Given the description of an element on the screen output the (x, y) to click on. 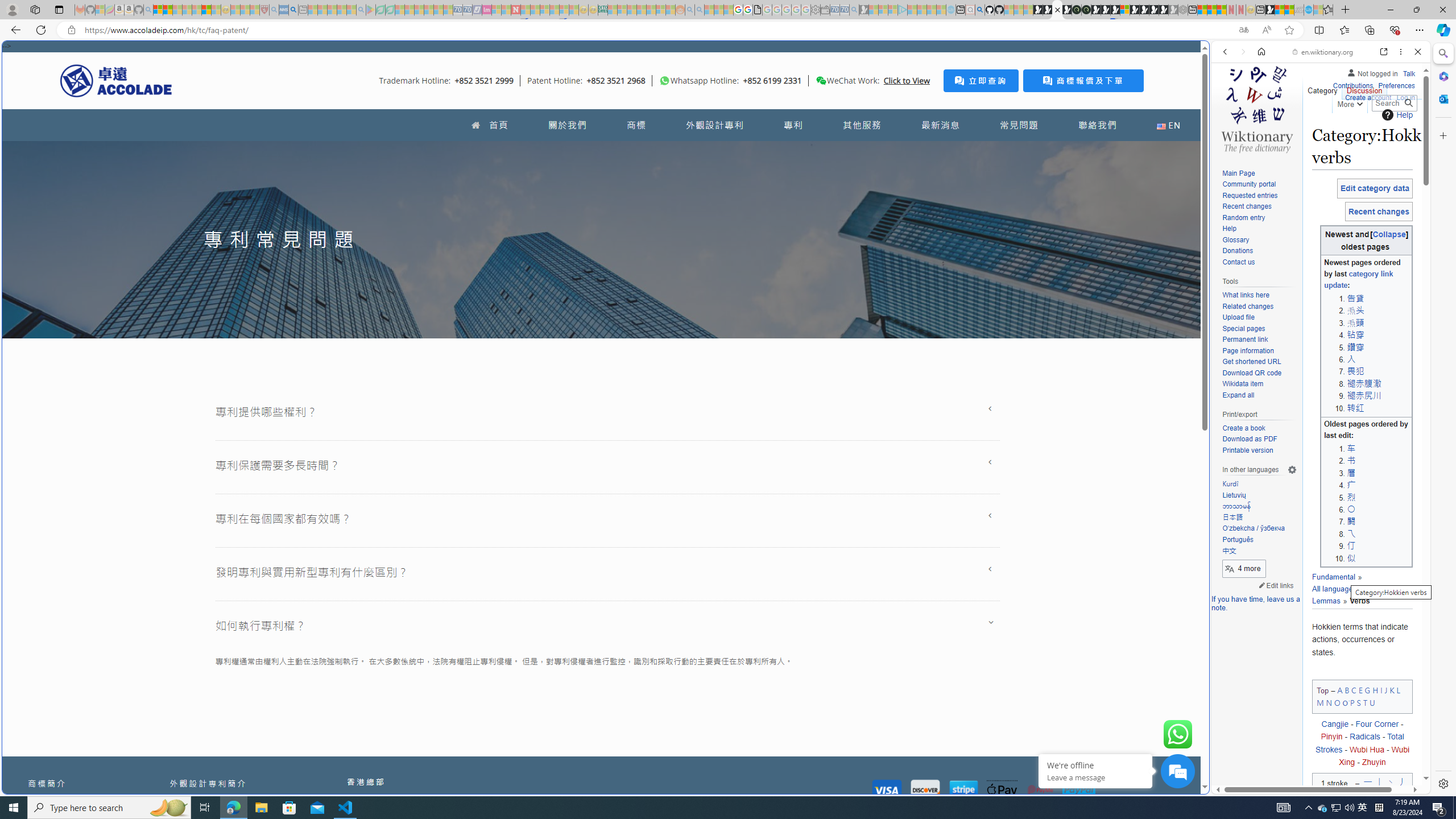
Edit links (1276, 585)
U (1372, 701)
Contributions (1352, 85)
